Given the description of an element on the screen output the (x, y) to click on. 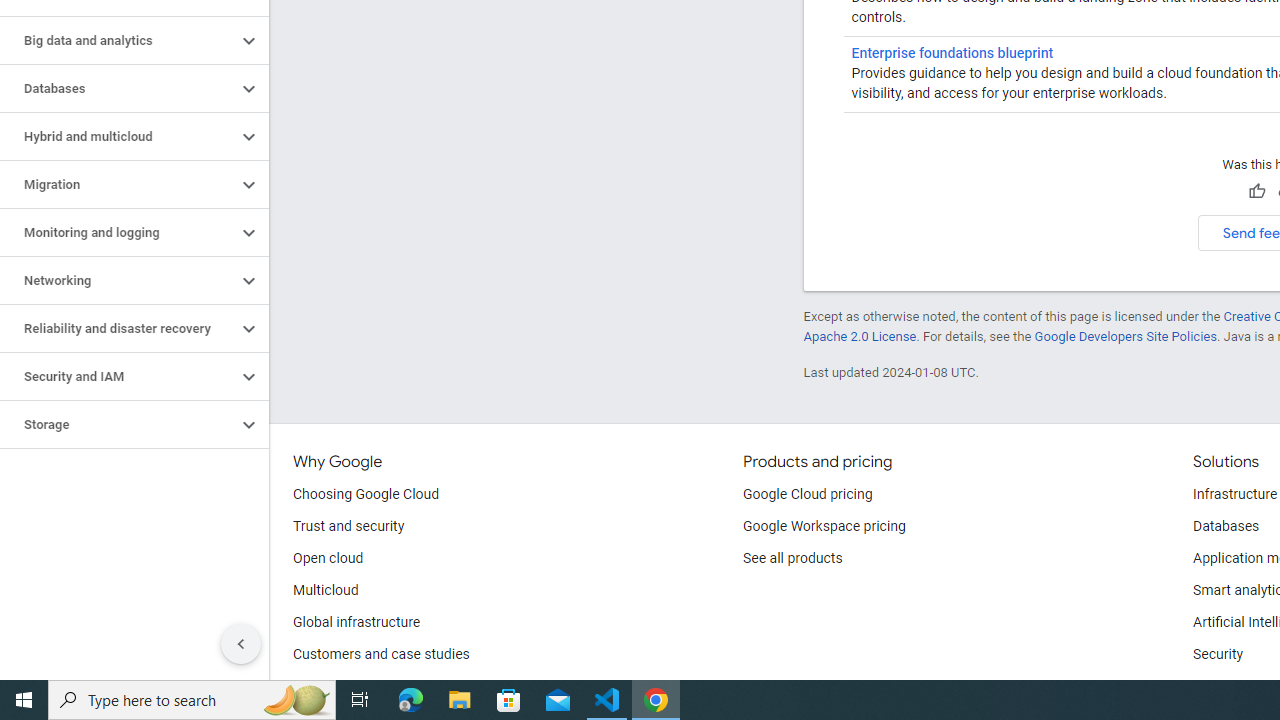
Helpful (1256, 192)
Migration (118, 184)
Databases (1225, 526)
Reliability and disaster recovery (118, 328)
See all products (792, 558)
Security and IAM (118, 376)
Enterprise foundations blueprint (952, 52)
Big data and analytics (118, 40)
Google Workspace pricing (824, 526)
Multicloud (325, 590)
Open cloud (328, 558)
Google Cloud pricing (807, 494)
